Given the description of an element on the screen output the (x, y) to click on. 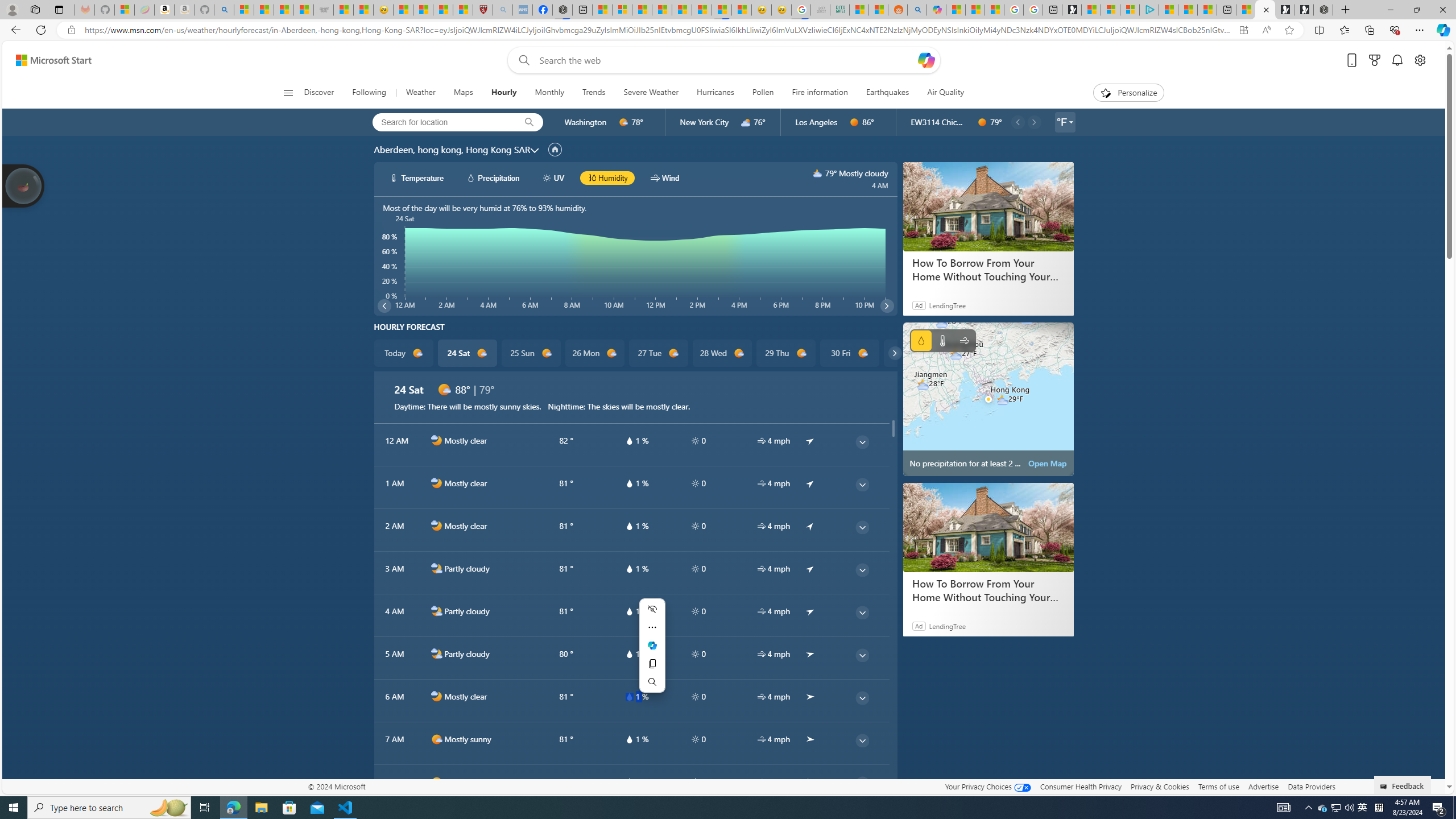
Precipitation (920, 340)
hourlyChart/temperatureWhite (394, 177)
hourlyChart/uvWhite UV (553, 178)
Monthly (549, 92)
common/thinArrow (861, 783)
31 Sat d1000 (913, 352)
hourlyChart/uvWhite (546, 177)
App available. Install Microsoft Start Weather (1243, 29)
